Given the description of an element on the screen output the (x, y) to click on. 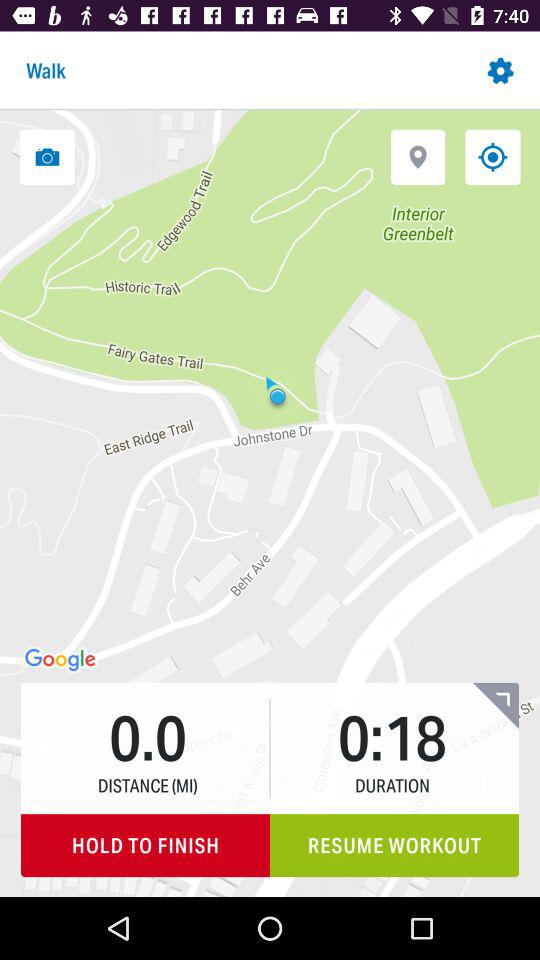
click icon next to resume workout icon (145, 845)
